Given the description of an element on the screen output the (x, y) to click on. 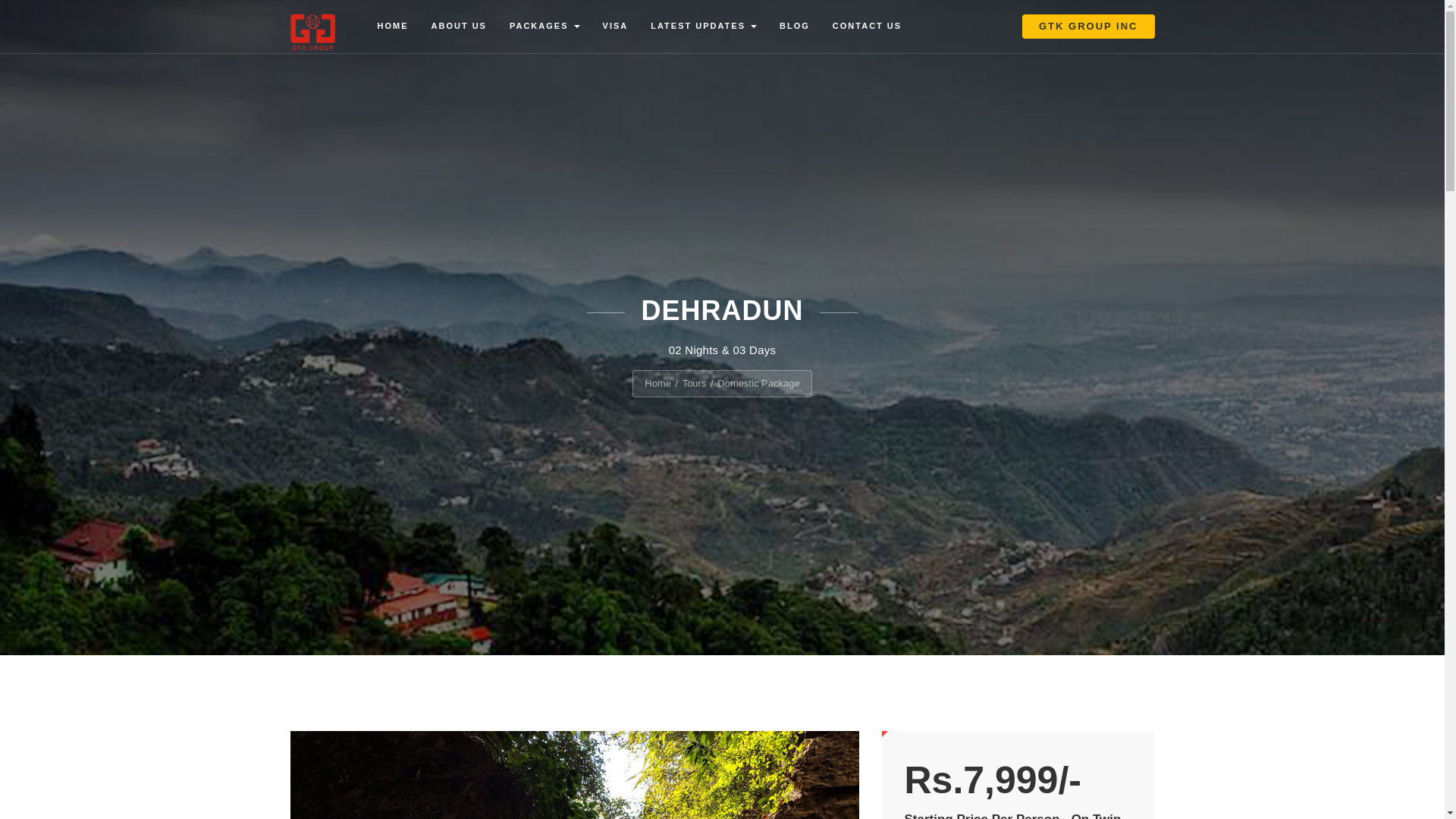
Home (392, 25)
Packages (544, 25)
PACKAGES (544, 25)
Blog (794, 25)
CONTACT US (866, 25)
About Us (458, 25)
BLOG (794, 25)
Home (658, 383)
Tours (694, 383)
VISA (615, 25)
Latest Updates (703, 25)
HOME (392, 25)
ABOUT US (458, 25)
Contact Us (866, 25)
LATEST UPDATES (703, 25)
